Given the description of an element on the screen output the (x, y) to click on. 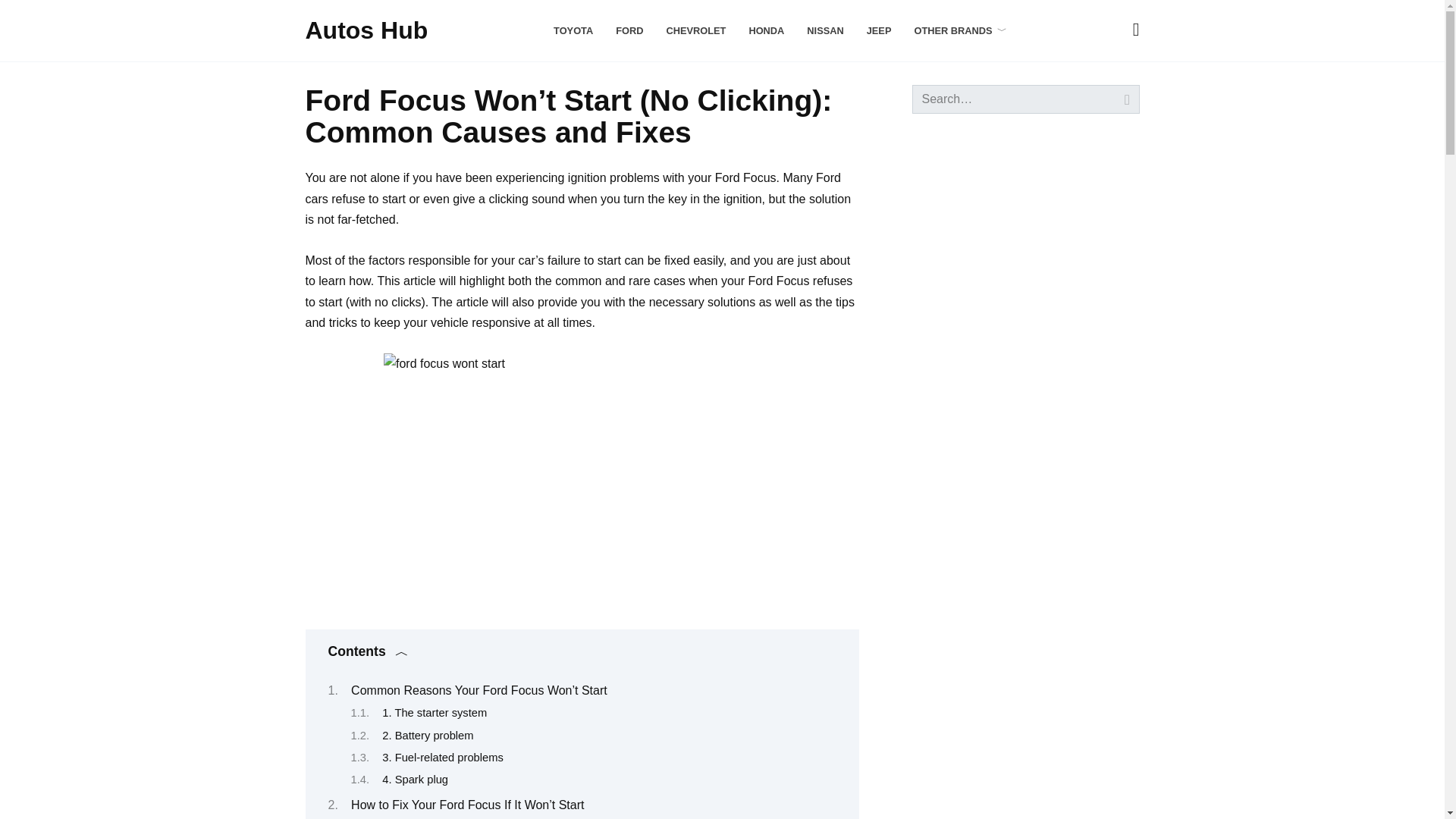
NISSAN (824, 30)
FORD (629, 30)
TOYOTA (572, 30)
JEEP (878, 30)
OTHER BRANDS (960, 30)
HONDA (766, 30)
Advertisement (1024, 371)
CHEVROLET (695, 30)
Autos Hub (366, 30)
